Given the description of an element on the screen output the (x, y) to click on. 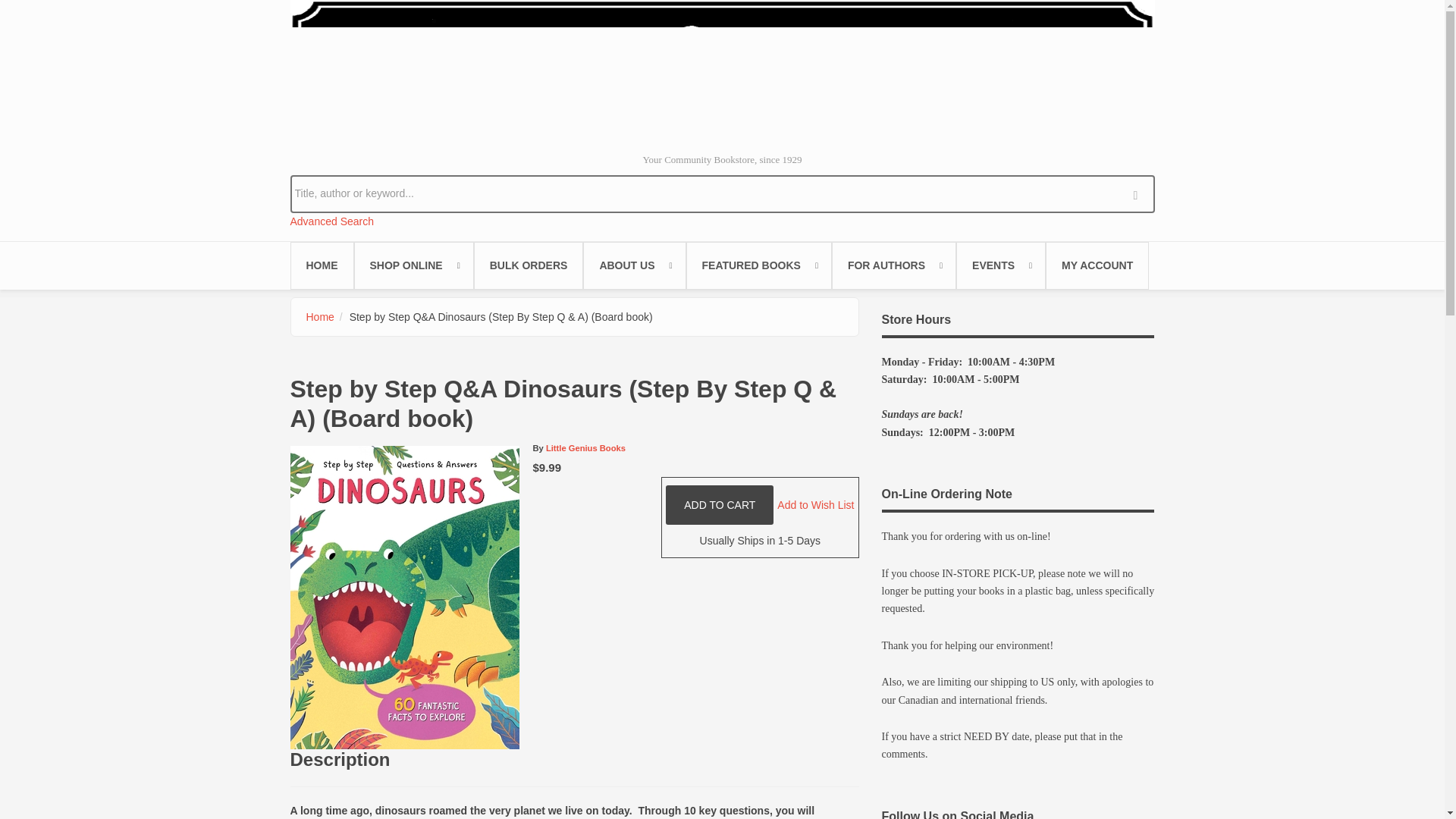
Home (319, 316)
FOR AUTHORS (893, 265)
FEATURED BOOKS (758, 265)
Advanced Search (331, 221)
BULK ORDERS (528, 265)
HOME (321, 265)
EVENTS (1000, 265)
Home (721, 69)
Add to Wish List (815, 504)
